Given the description of an element on the screen output the (x, y) to click on. 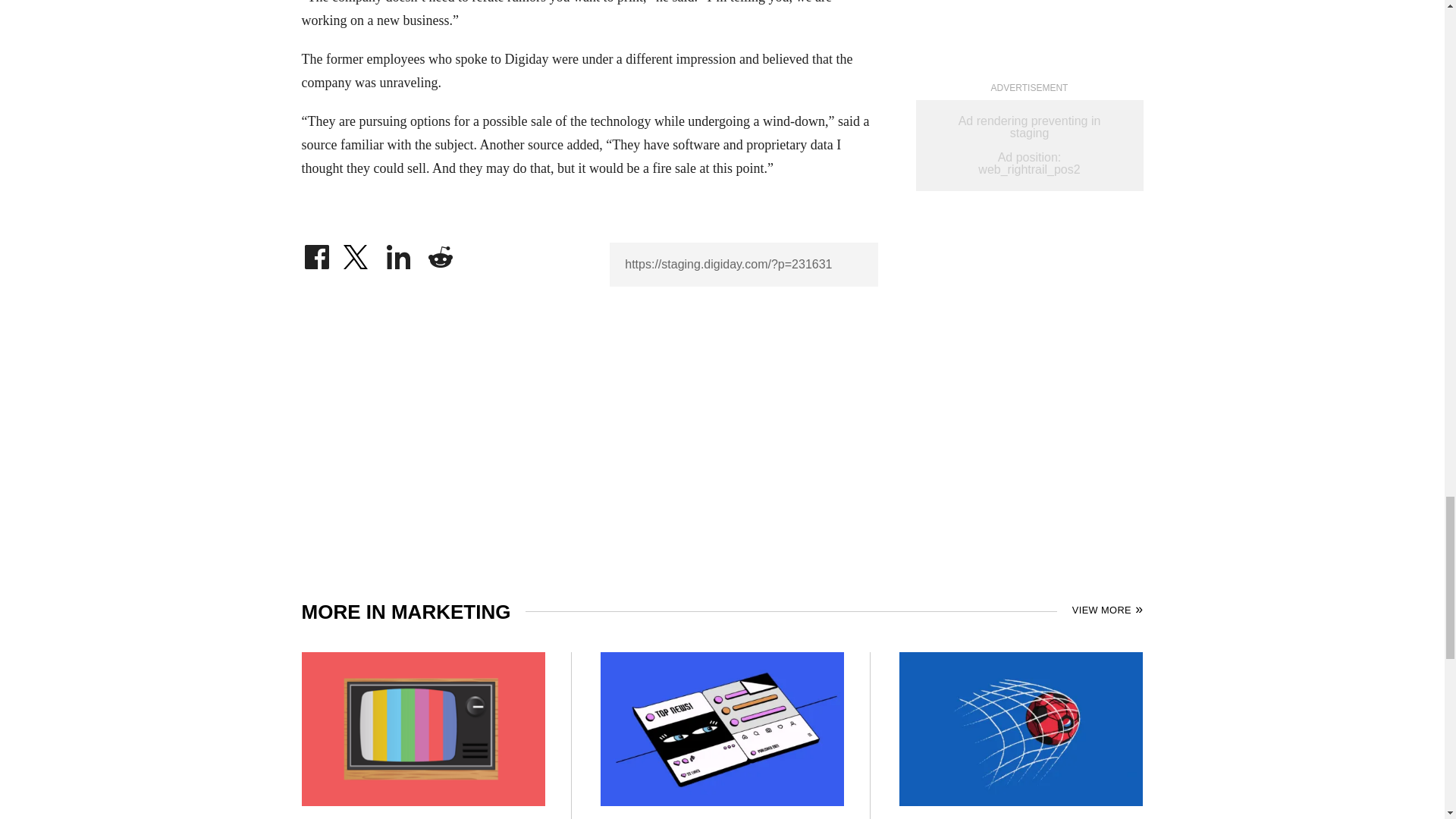
Share on Reddit (440, 253)
Share on Twitter (357, 253)
Share on Facebook (316, 253)
Share on LinkedIn (398, 253)
